Given the description of an element on the screen output the (x, y) to click on. 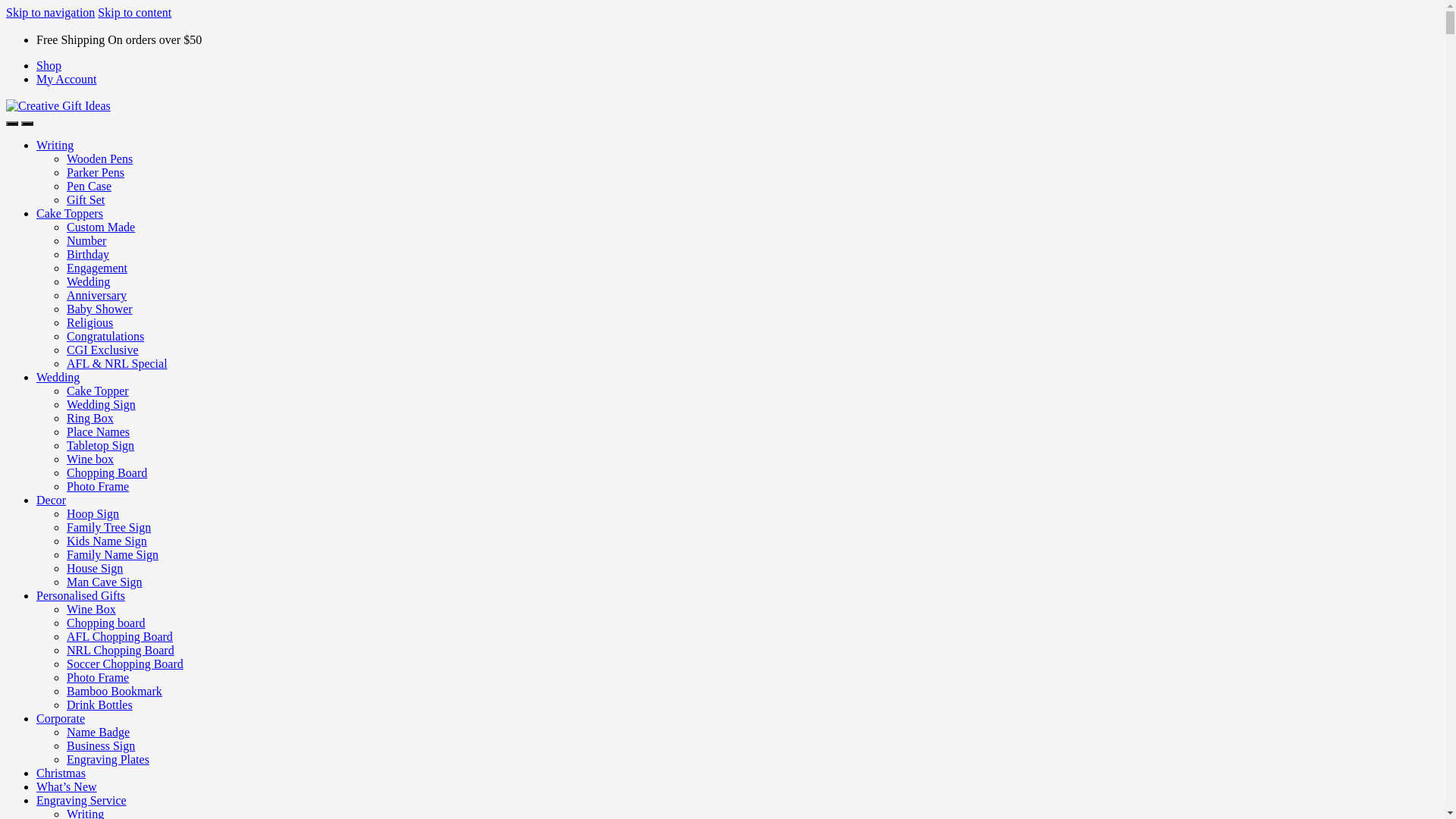
My Account Element type: text (1210, 19)
Cake Toppers Element type: text (301, 170)
Decor Element type: text (458, 170)
Free Shipping On orders over $50 Element type: text (289, 19)
Writing Element type: text (218, 170)
Engraving Service Element type: text (907, 170)
Corporate Element type: text (652, 170)
0
$0.00 Element type: text (1232, 82)
Wedding Element type: text (389, 170)
Christmas Element type: text (729, 170)
Shop Element type: text (1115, 19)
Personalised Gifts Element type: text (550, 170)
